Given the description of an element on the screen output the (x, y) to click on. 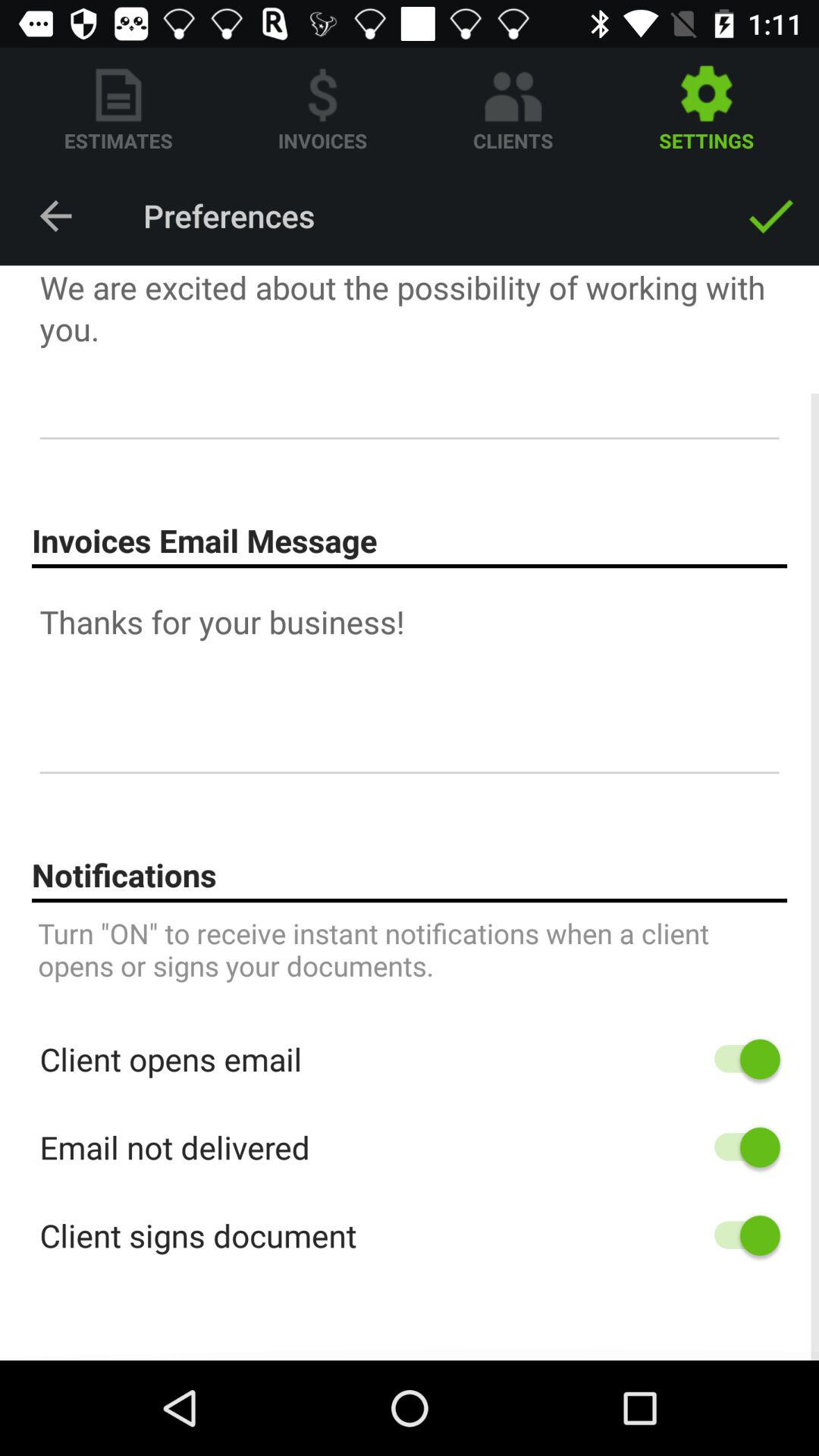
push to select a option (739, 1235)
